Given the description of an element on the screen output the (x, y) to click on. 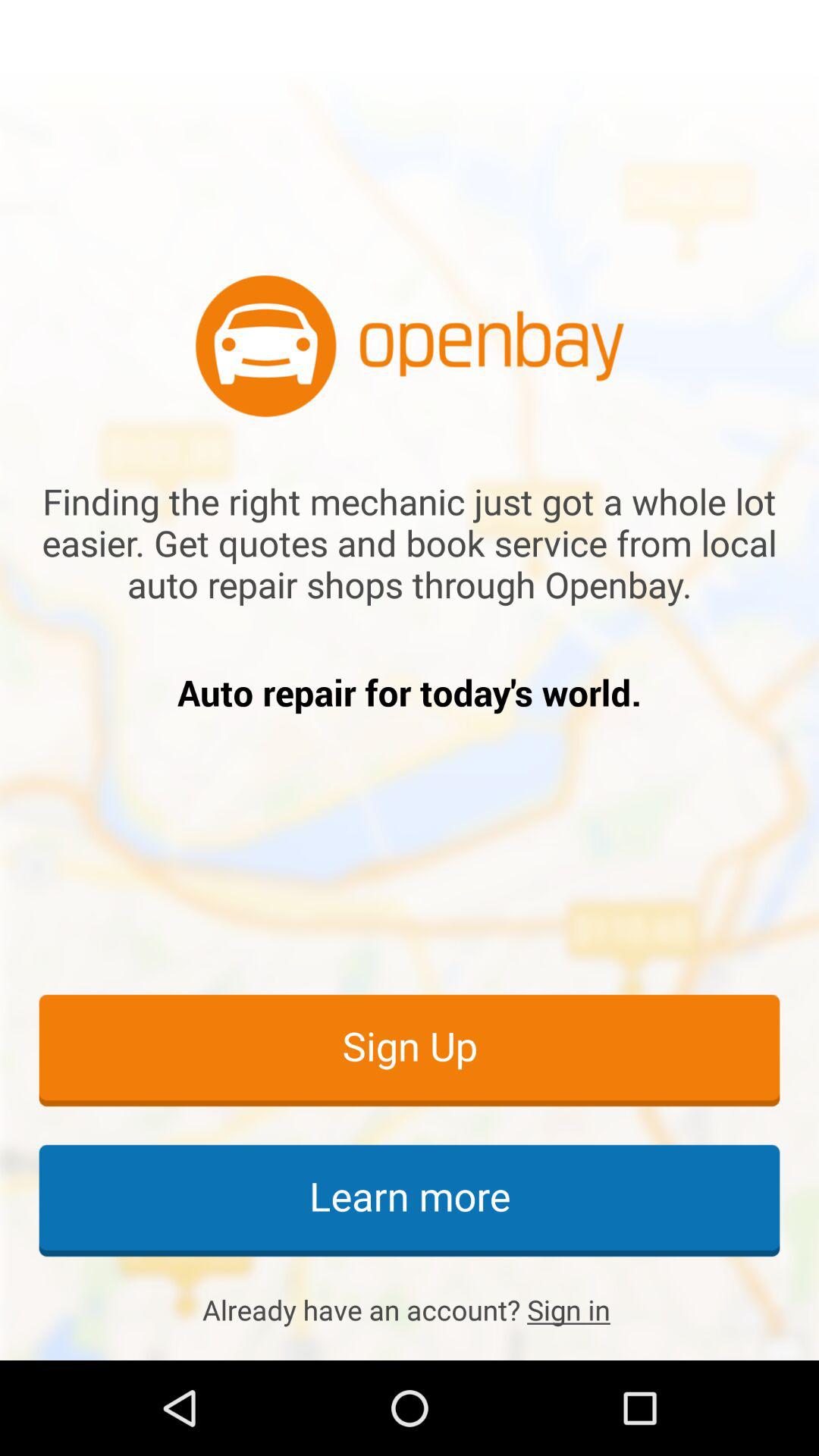
jump to the learn more item (409, 1199)
